Given the description of an element on the screen output the (x, y) to click on. 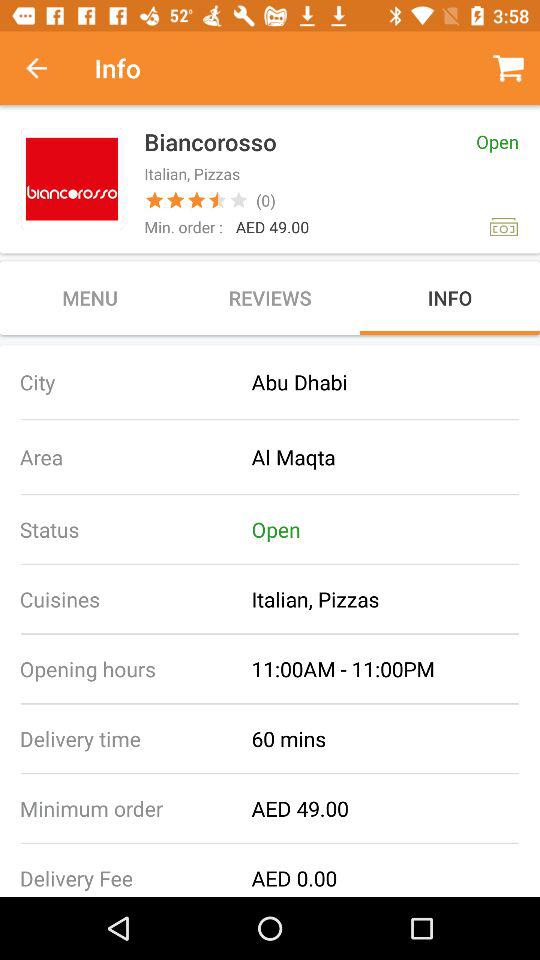
open al maqta item (395, 456)
